Given the description of an element on the screen output the (x, y) to click on. 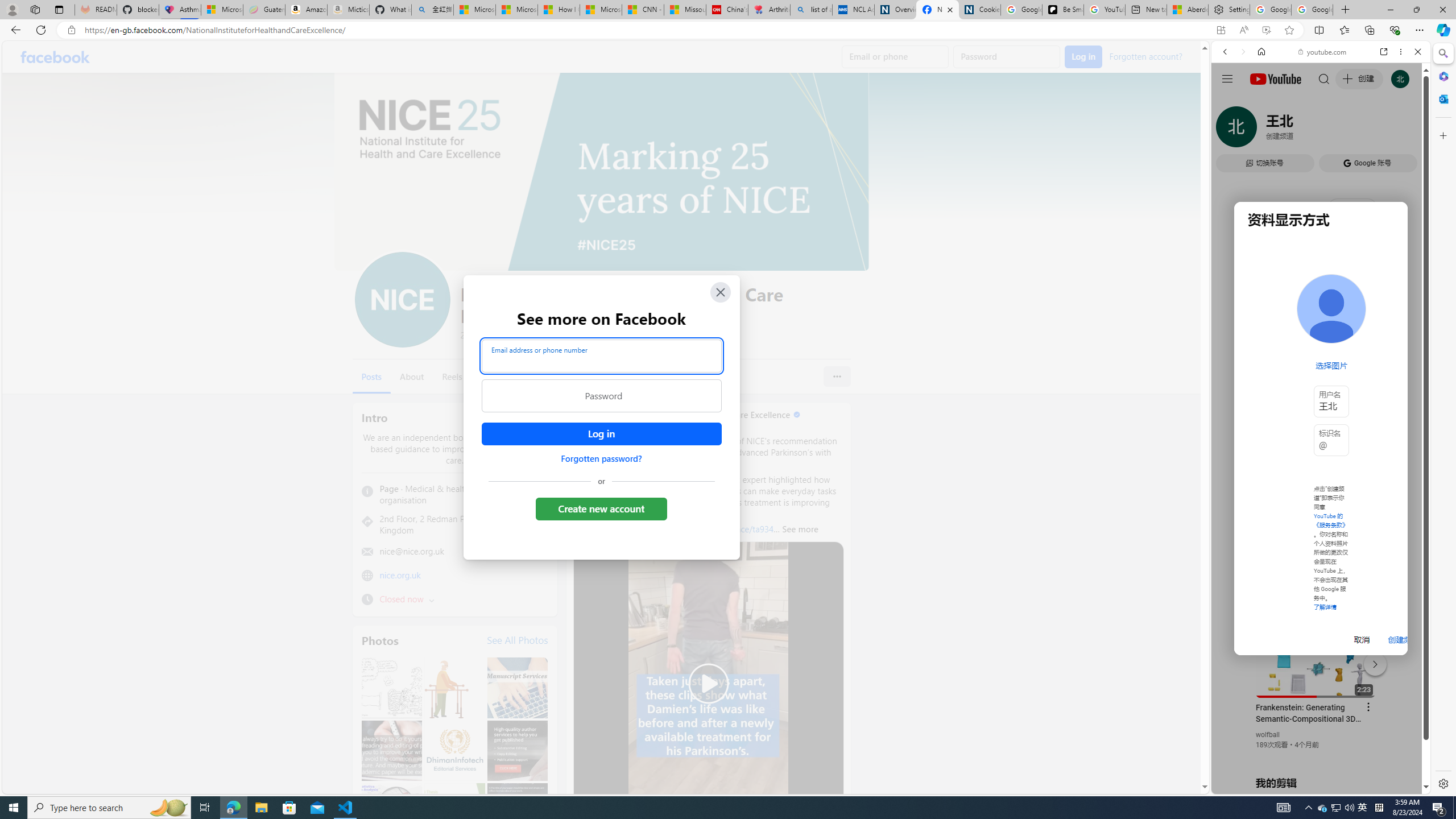
Facebook (55, 56)
Search Filter, IMAGES (1262, 129)
